Given the description of an element on the screen output the (x, y) to click on. 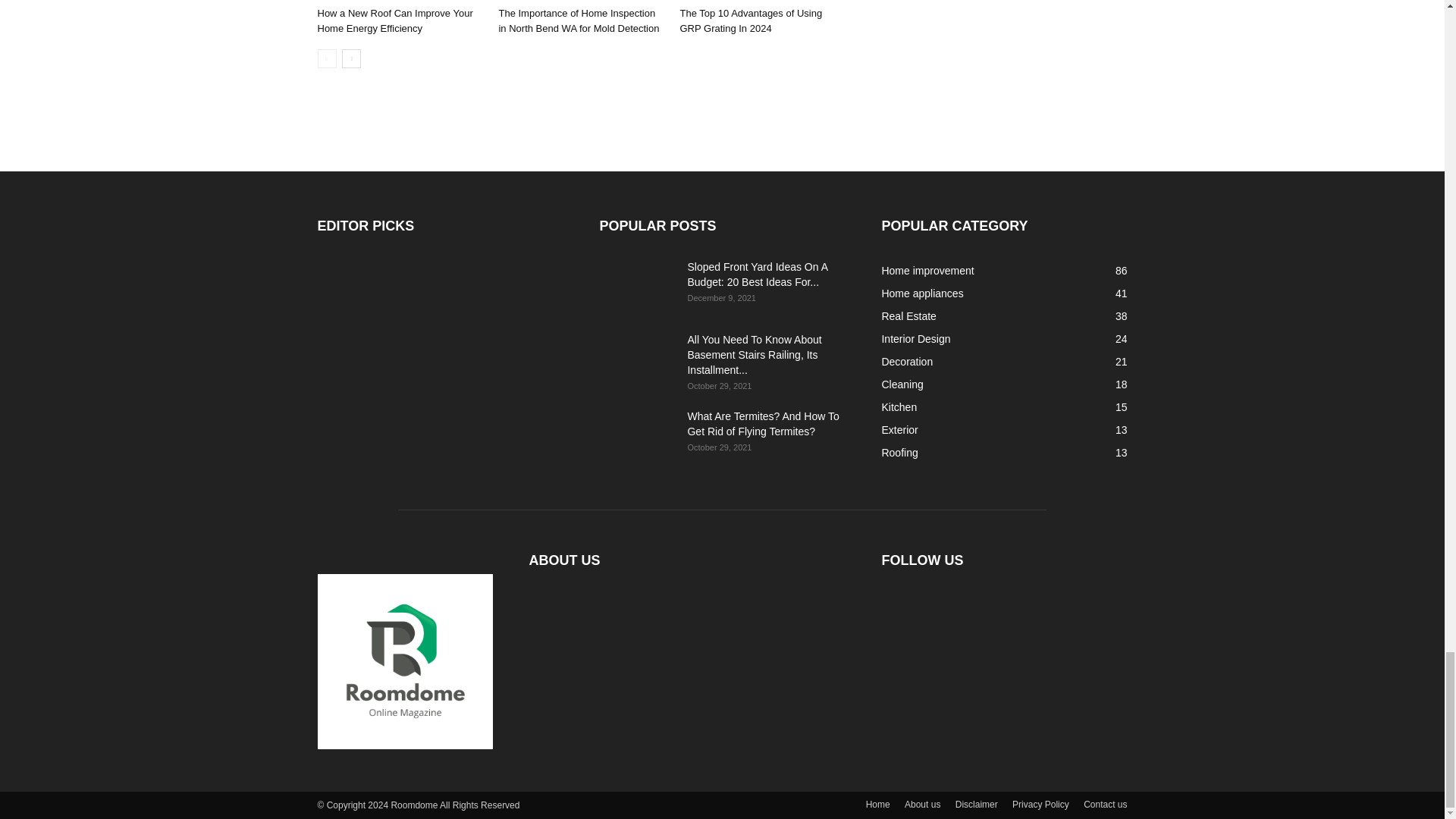
How a New Roof Can Improve Your Home Energy Efficiency (394, 20)
